Given the description of an element on the screen output the (x, y) to click on. 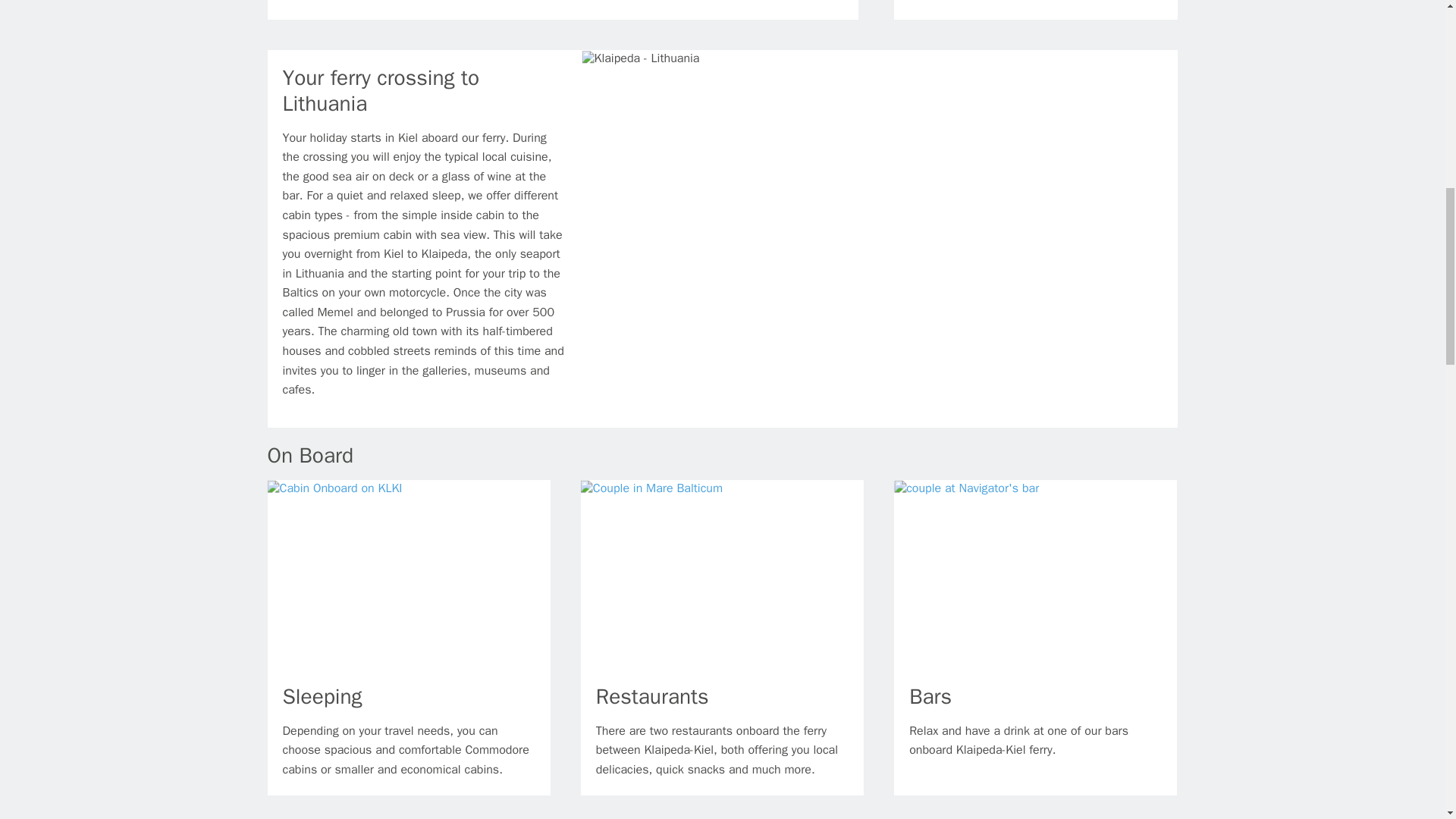
Couple in Mare Balticum  (651, 488)
Klaipeda - Litauen  (639, 58)
couple at Navigator's bar  (966, 488)
Cabin Onboard on KLKI (333, 488)
